Given the description of an element on the screen output the (x, y) to click on. 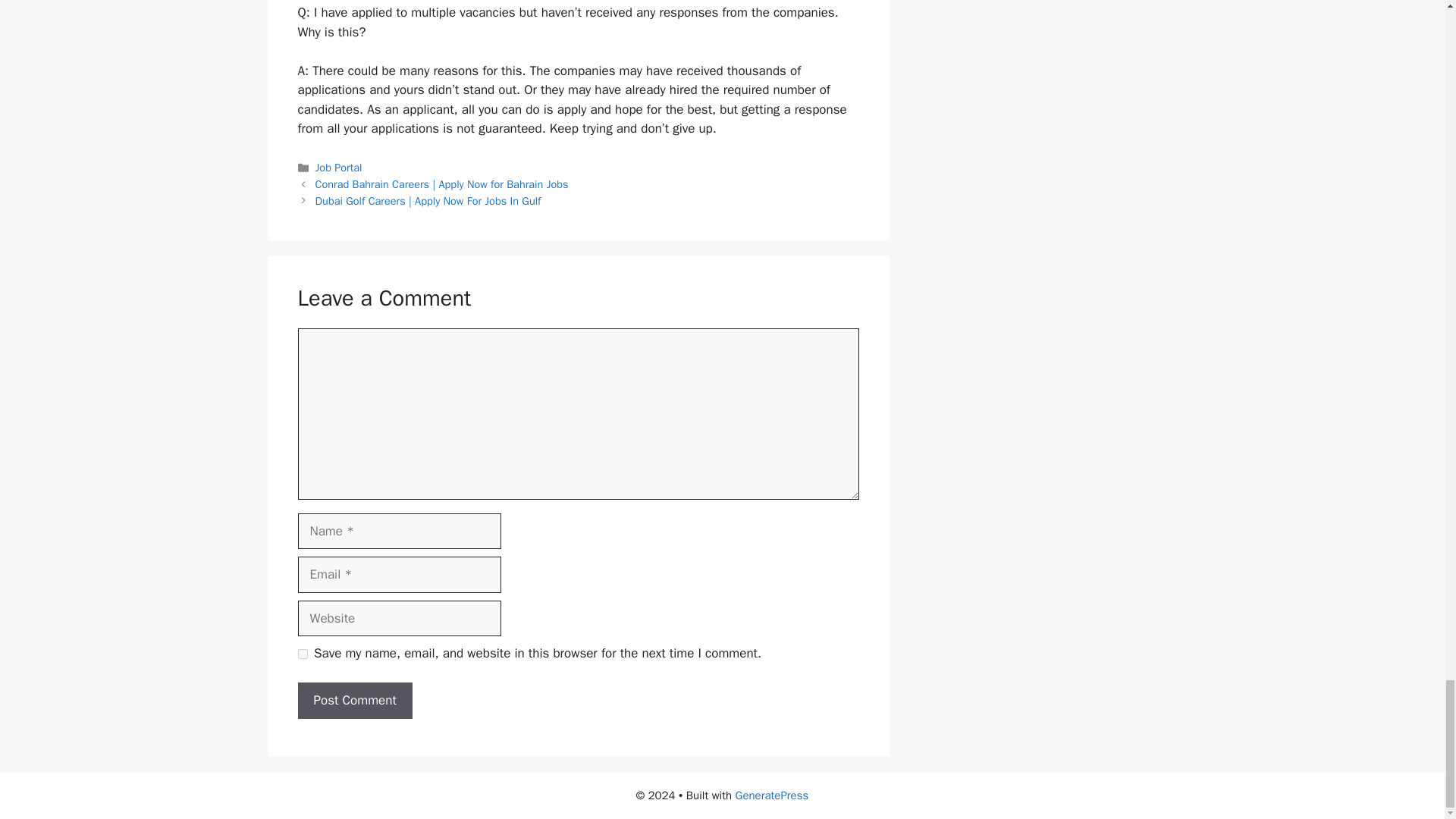
GeneratePress (772, 795)
yes (302, 654)
Post Comment (354, 700)
Job Portal (338, 167)
Post Comment (354, 700)
